Given the description of an element on the screen output the (x, y) to click on. 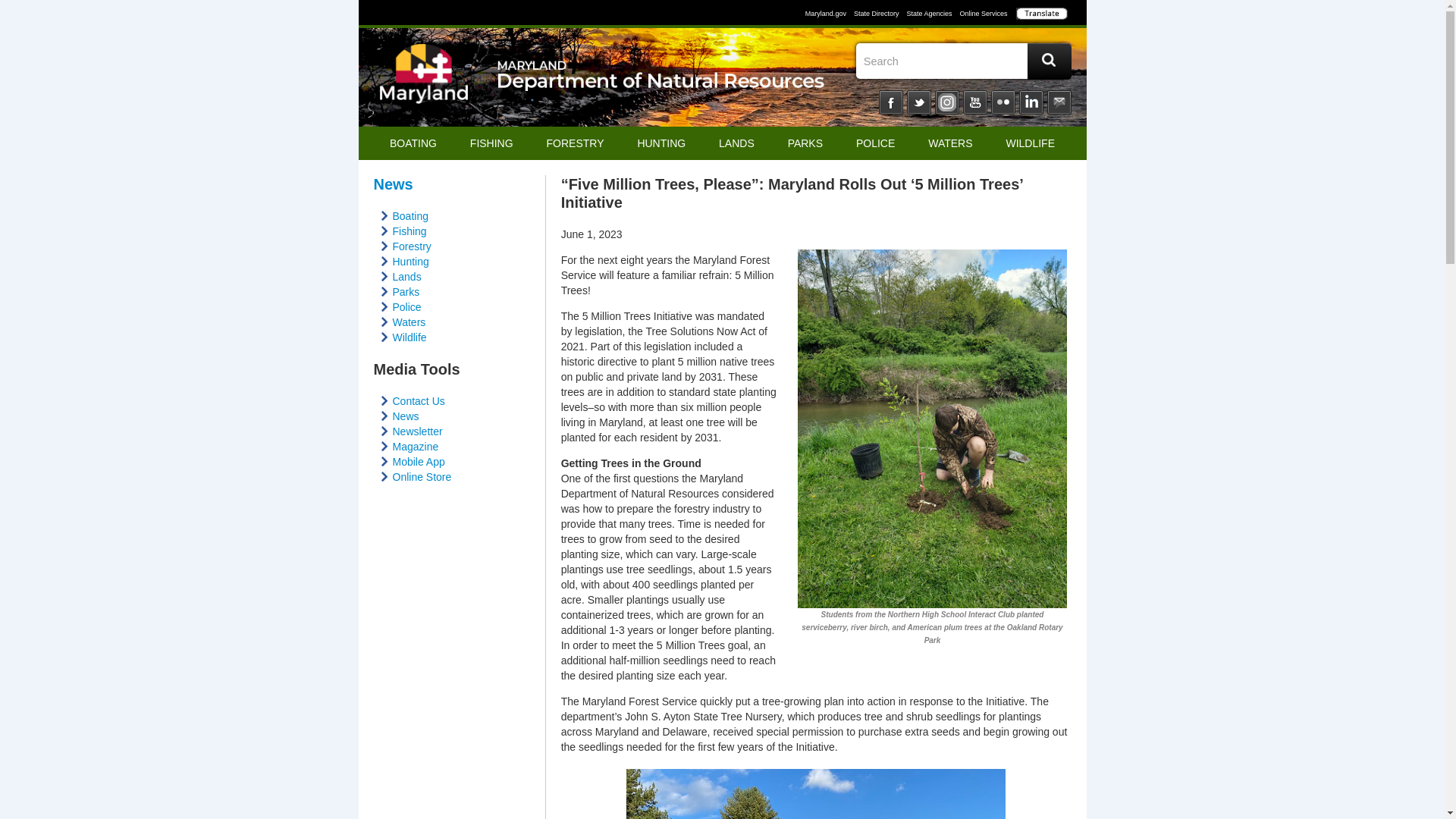
News (392, 184)
Wildlife (409, 337)
Search (960, 60)
BOATING (412, 142)
News (406, 416)
State Agencies (928, 13)
LinkedIn (1031, 102)
Contact Us (419, 400)
Boating (410, 215)
Flickr (1002, 102)
Online Services (981, 13)
YouTube (974, 102)
GovDelivery (1058, 102)
LANDS (736, 142)
Lands (407, 276)
